Given the description of an element on the screen output the (x, y) to click on. 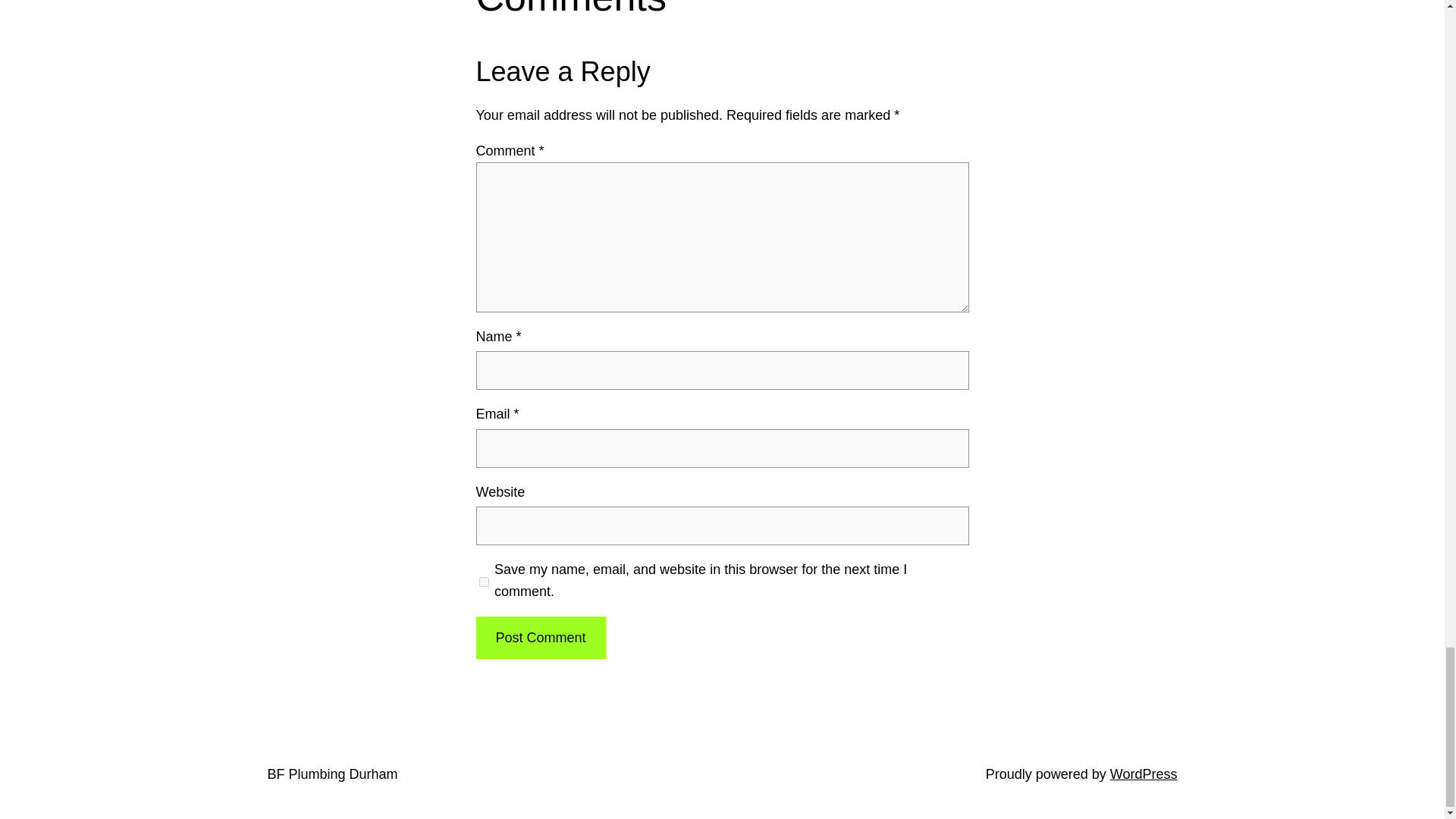
BF Plumbing Durham (331, 774)
Post Comment (540, 638)
WordPress (1143, 774)
Post Comment (540, 638)
